Given the description of an element on the screen output the (x, y) to click on. 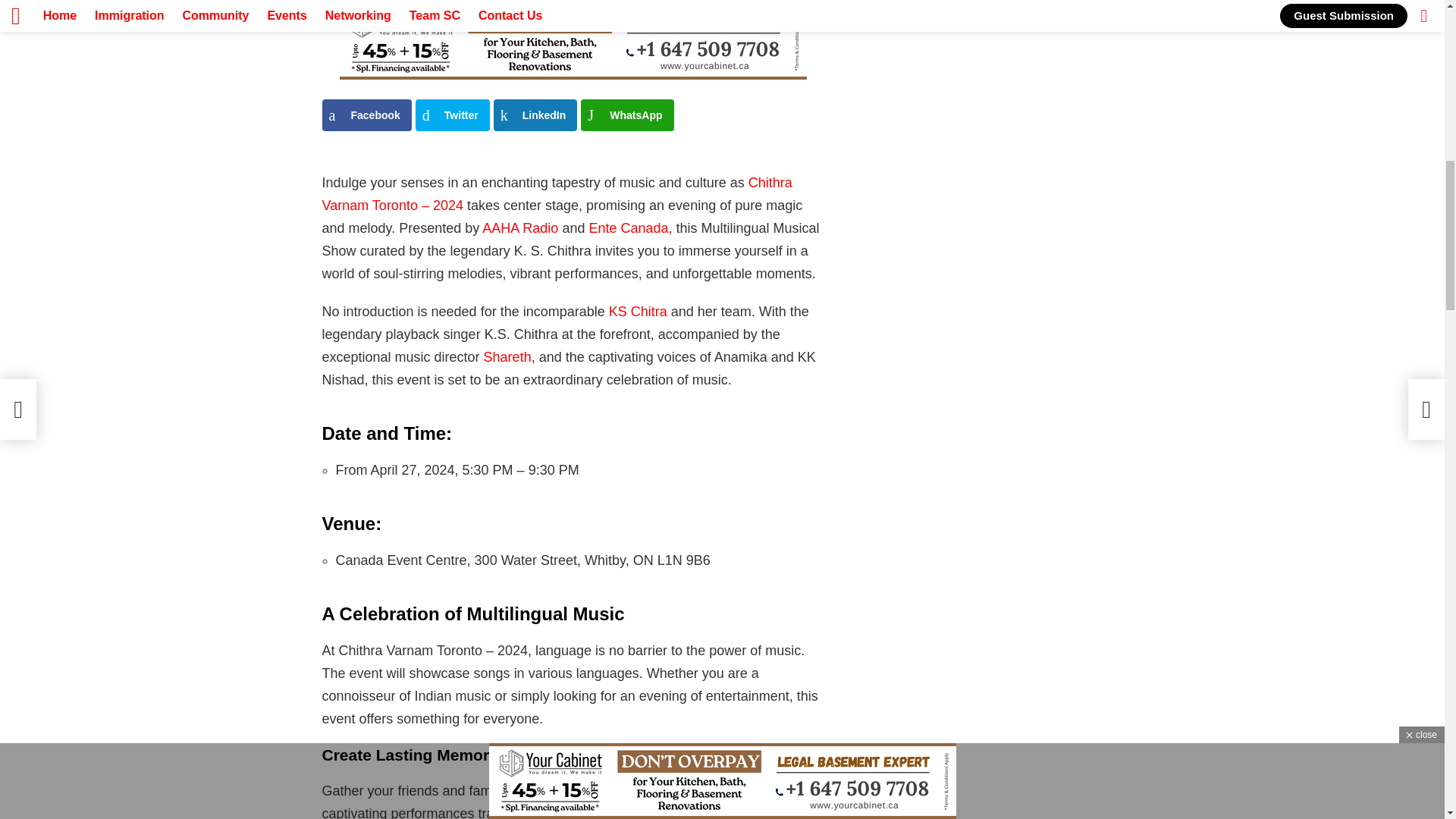
Share on Facebook (365, 115)
Share on Twitter (451, 115)
Share on LinkedIn (535, 115)
Share on WhatsApp (626, 115)
